Given the description of an element on the screen output the (x, y) to click on. 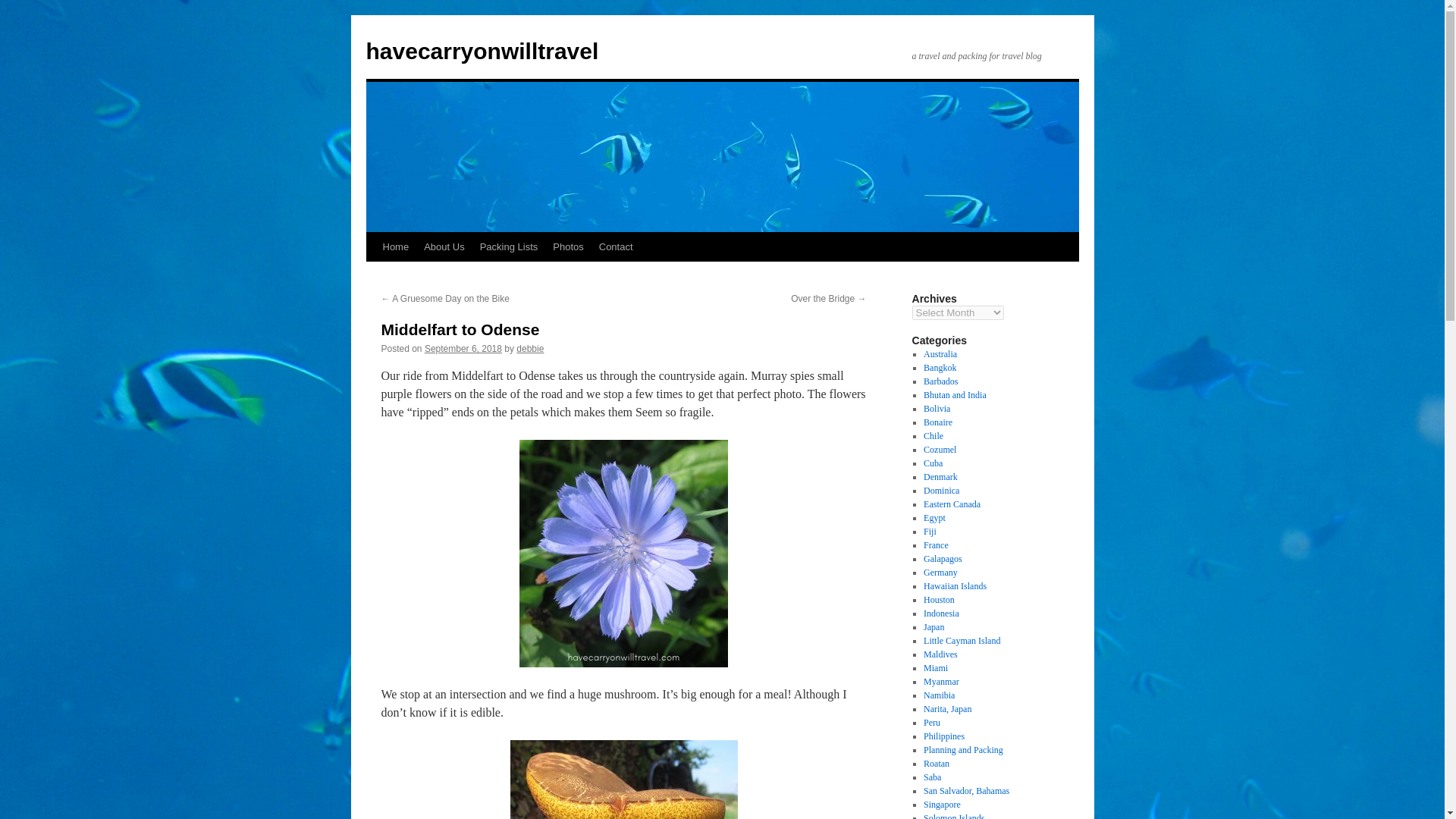
10:42 pm (463, 348)
Photos (567, 246)
Home (395, 246)
View all posts by debbie (529, 348)
Packing Lists (508, 246)
havecarryonwilltravel (481, 50)
About Us (443, 246)
